Given the description of an element on the screen output the (x, y) to click on. 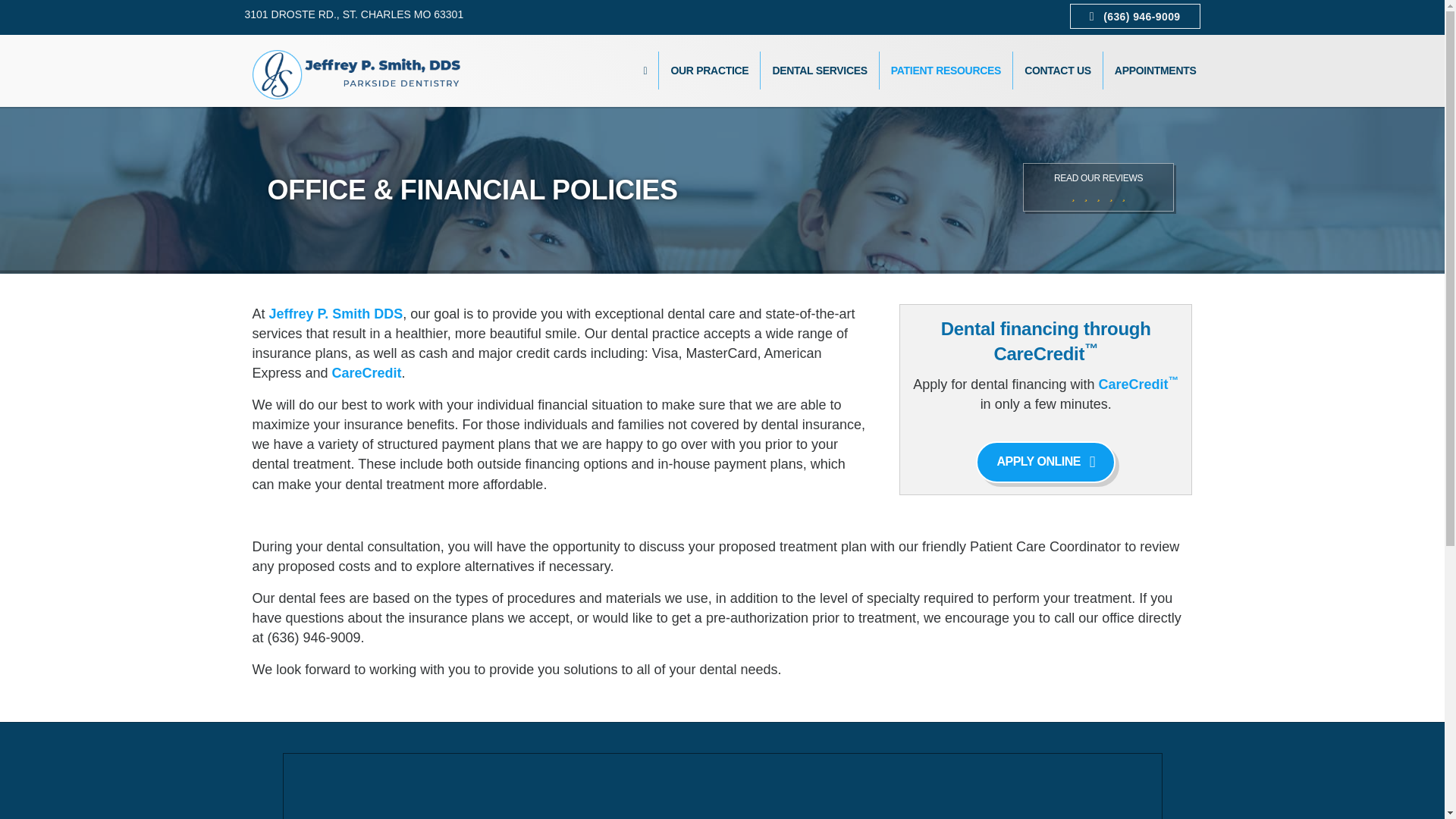
CONTACT US (1057, 70)
Request Appointment (1155, 70)
PATIENT RESOURCES (945, 70)
OUR PRACTICE (709, 70)
3101 DROSTE RD., ST. CHARLES MO 63301 (352, 14)
DENTAL SERVICES (818, 70)
jeffrey-smith-parkside-dentistry-logo-inline (357, 74)
